Given the description of an element on the screen output the (x, y) to click on. 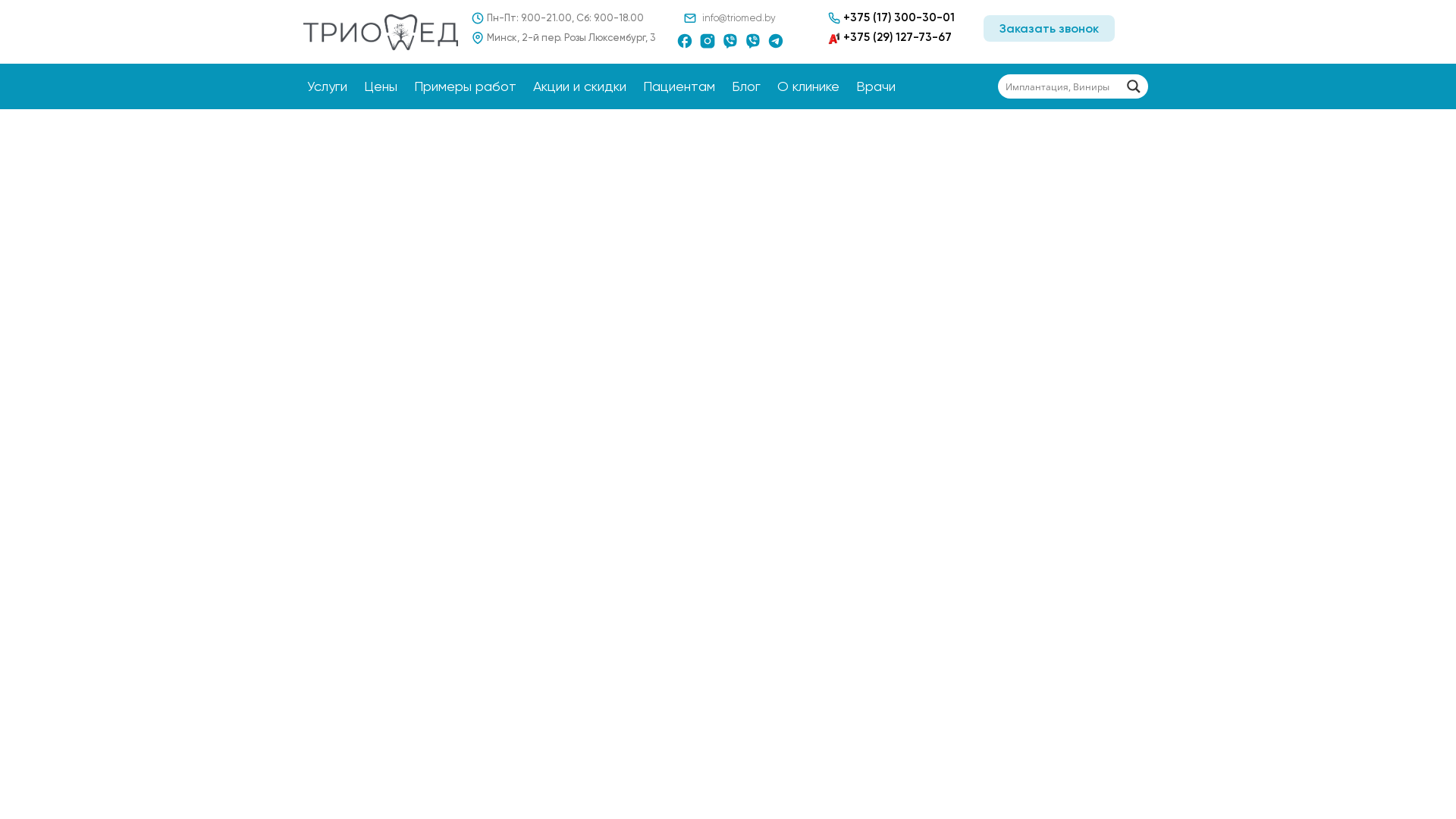
+375 (29) 127-73-67 Element type: text (889, 36)
+375 (17) 300-30-01 Element type: text (891, 17)
info@triomed.by Element type: text (738, 17)
